Given the description of an element on the screen output the (x, y) to click on. 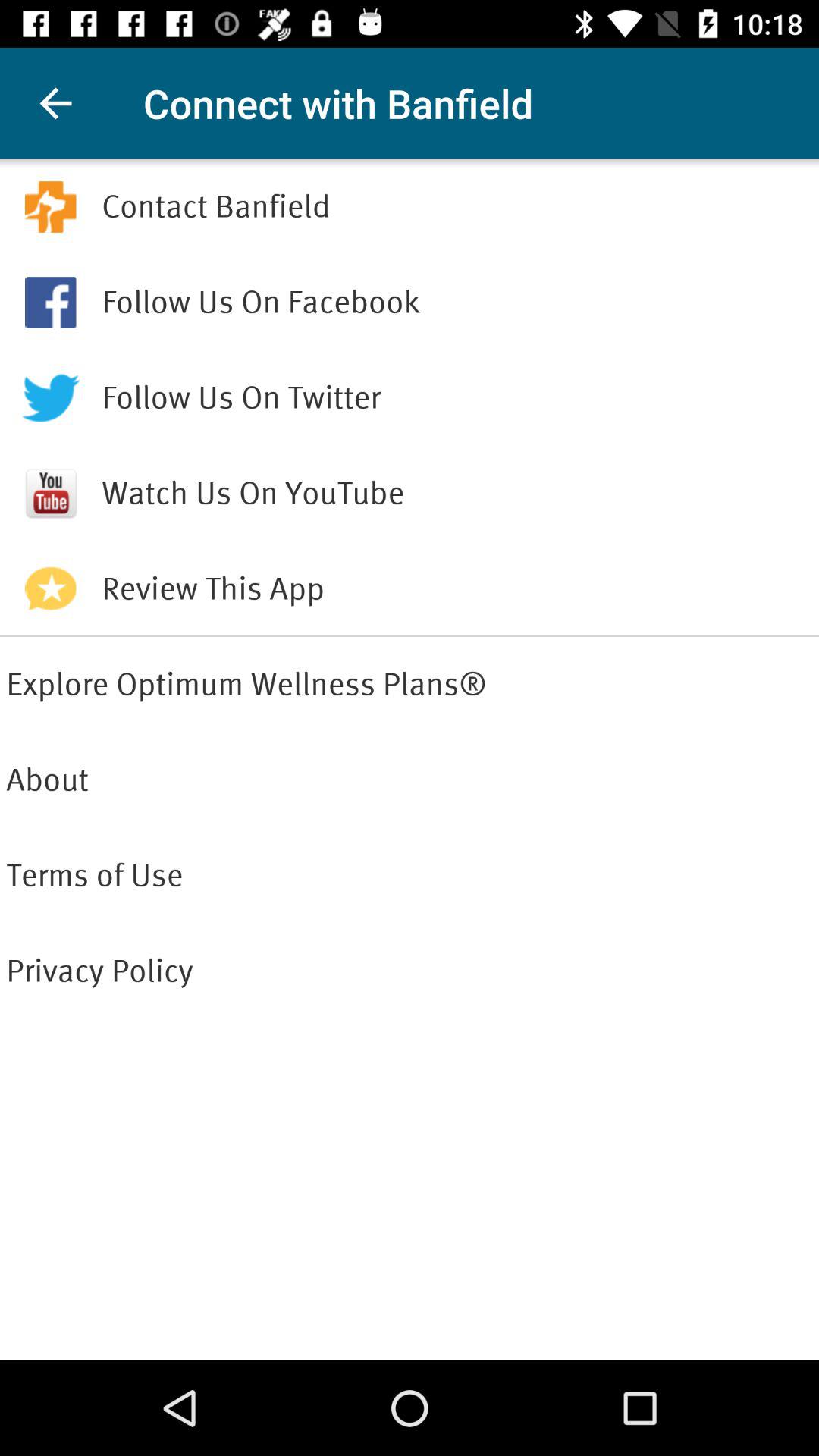
launch the icon above privacy policy icon (409, 875)
